Given the description of an element on the screen output the (x, y) to click on. 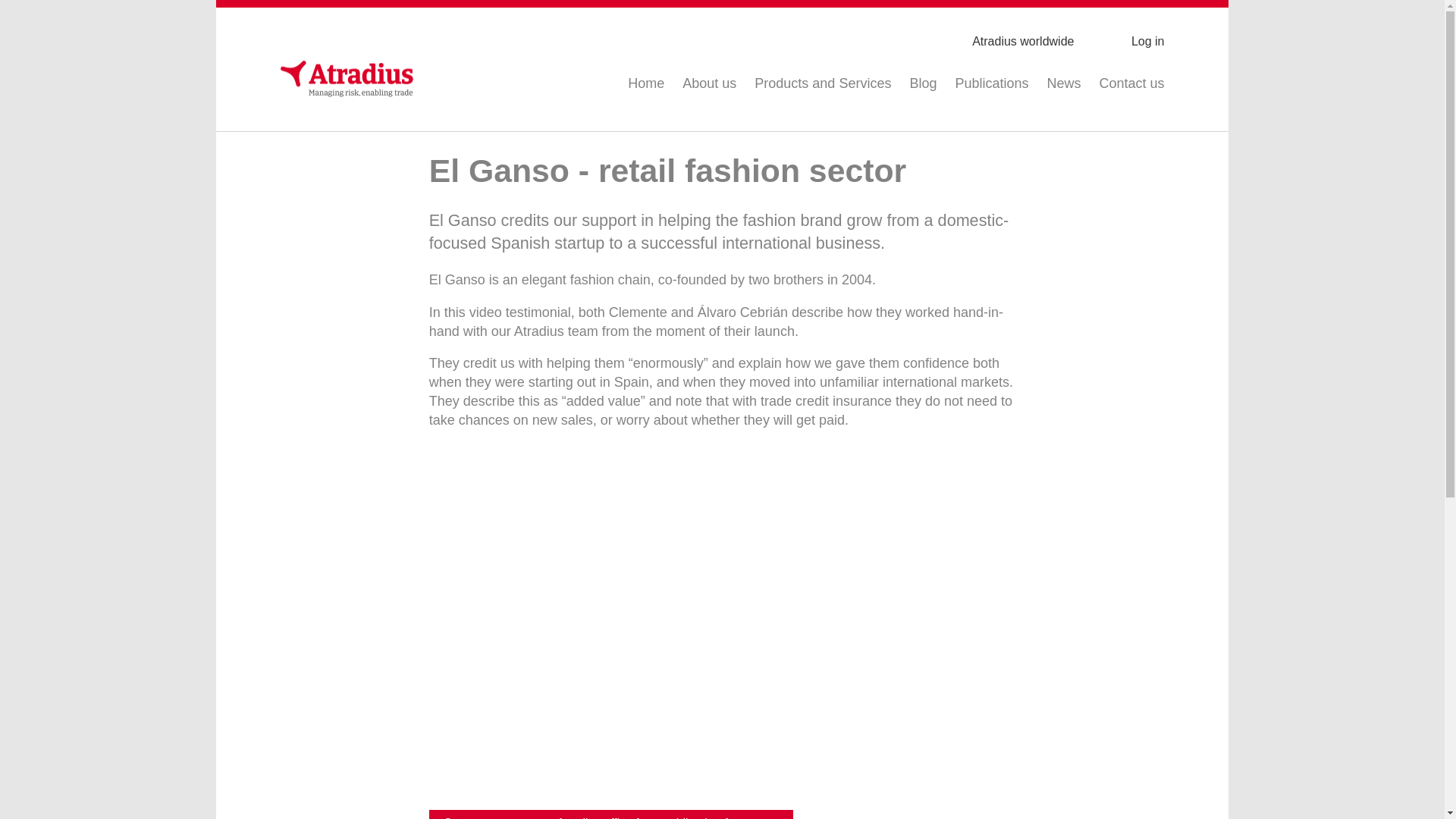
Log in (1130, 41)
Atradius worldwide (1005, 41)
